Given the description of an element on the screen output the (x, y) to click on. 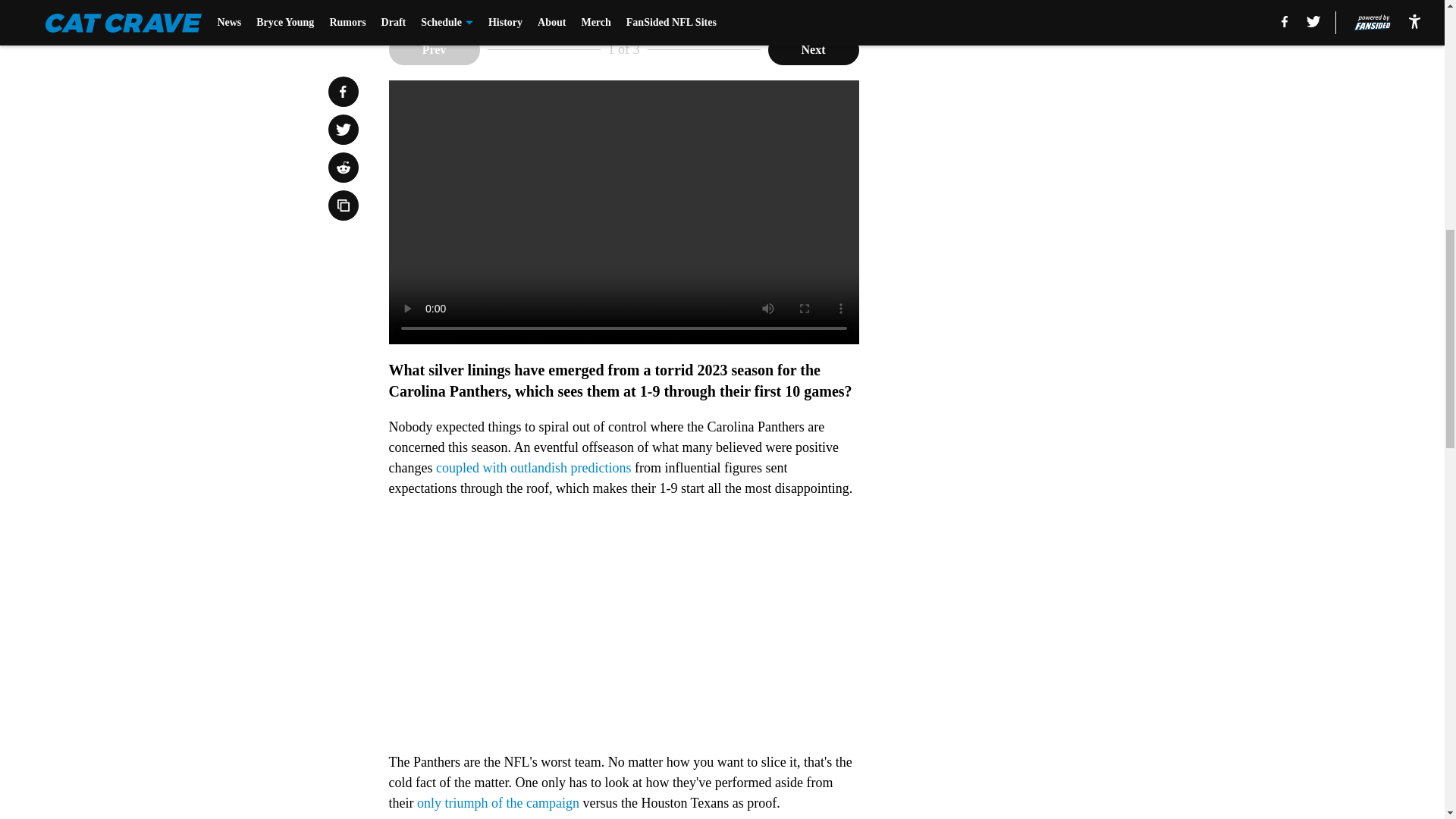
only triumph of the campaign (497, 802)
Next (813, 50)
Prev (433, 50)
3rd party ad content (1047, 349)
3rd party ad content (1047, 129)
coupled with outlandish predictions (532, 467)
